Given the description of an element on the screen output the (x, y) to click on. 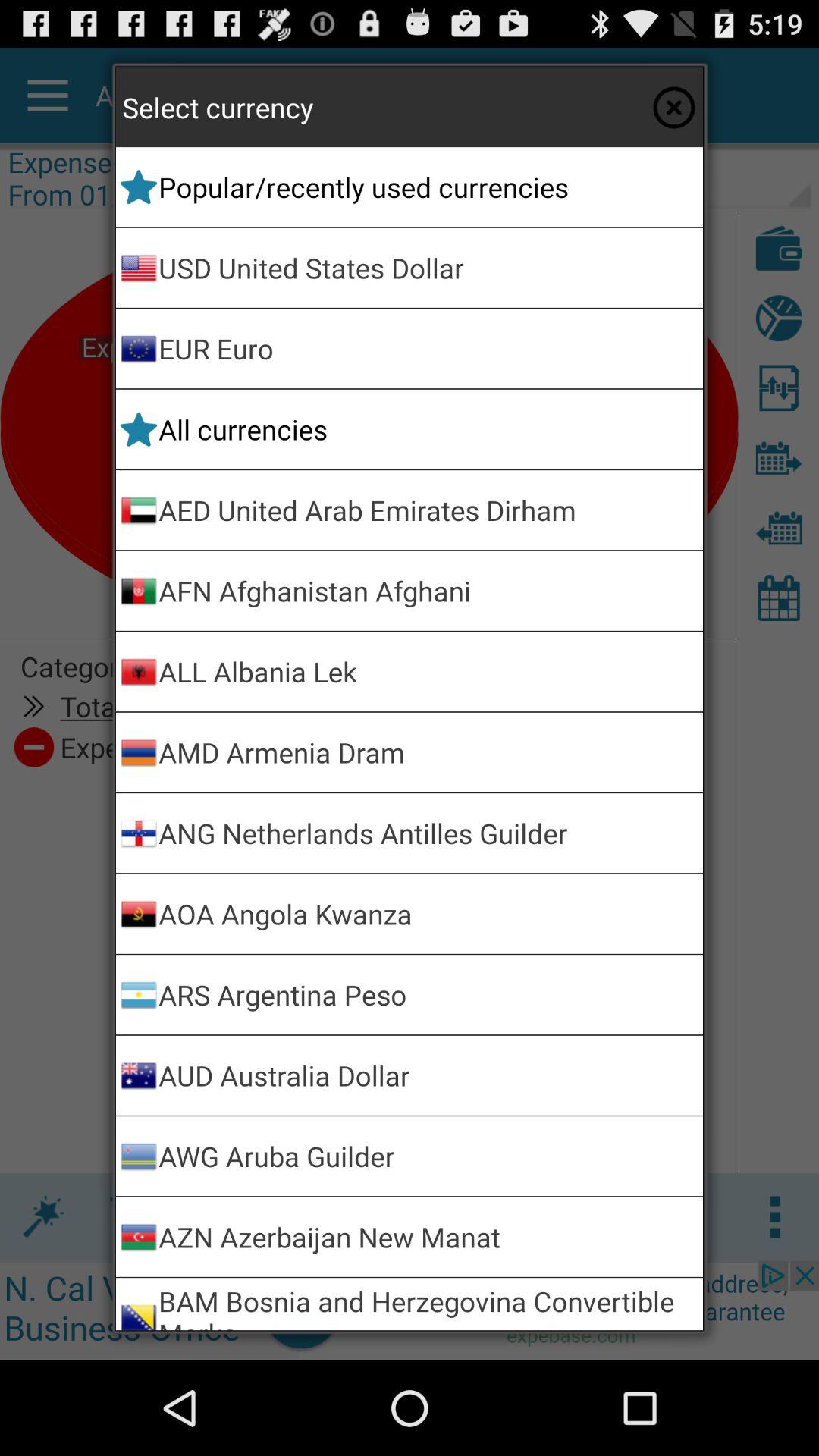
press app below the awg aruba guilder icon (427, 1236)
